Given the description of an element on the screen output the (x, y) to click on. 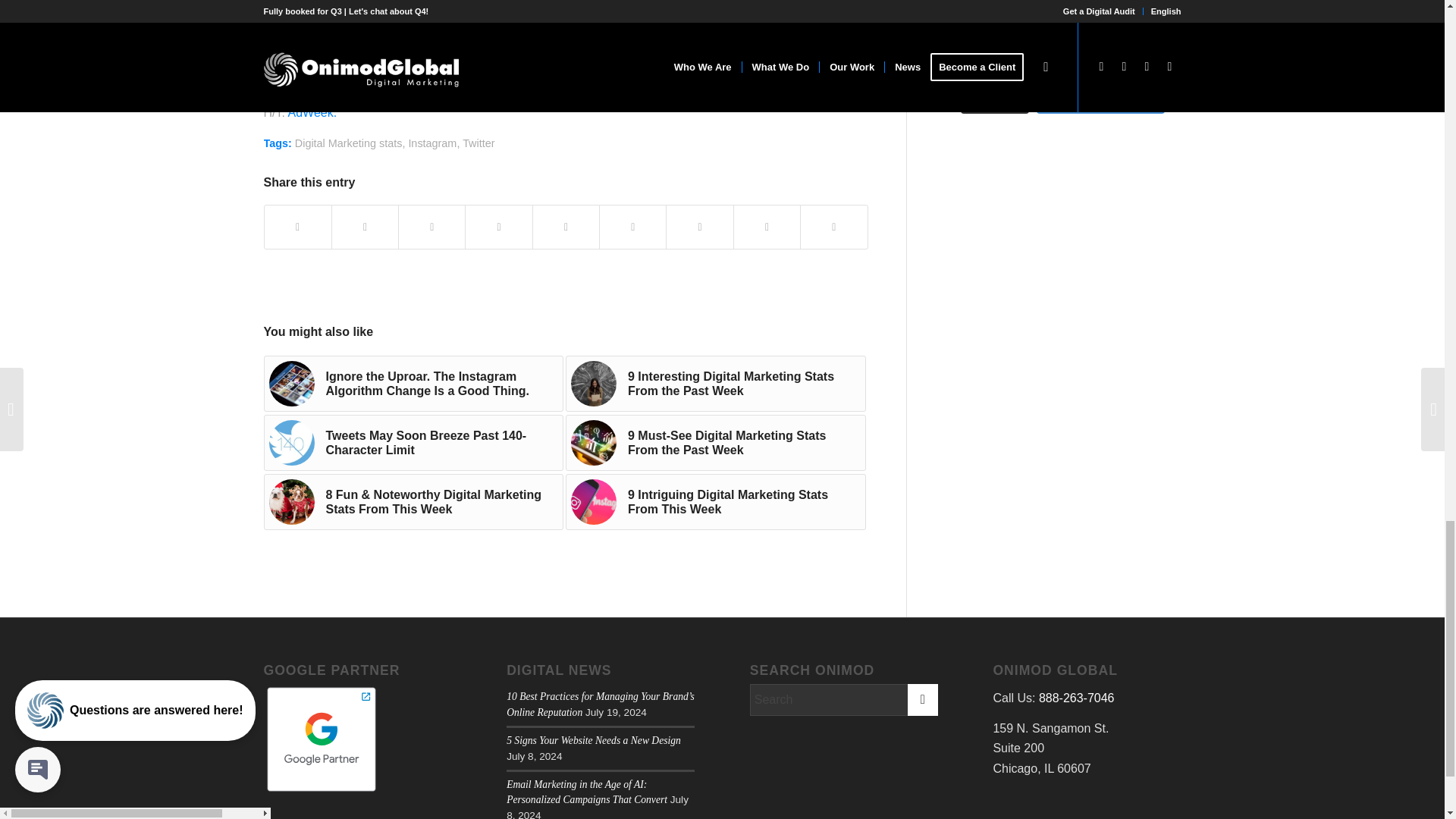
AdWeek. (310, 112)
Instagram (432, 143)
Twitter (479, 143)
Digital Marketing stats (349, 143)
